Given the description of an element on the screen output the (x, y) to click on. 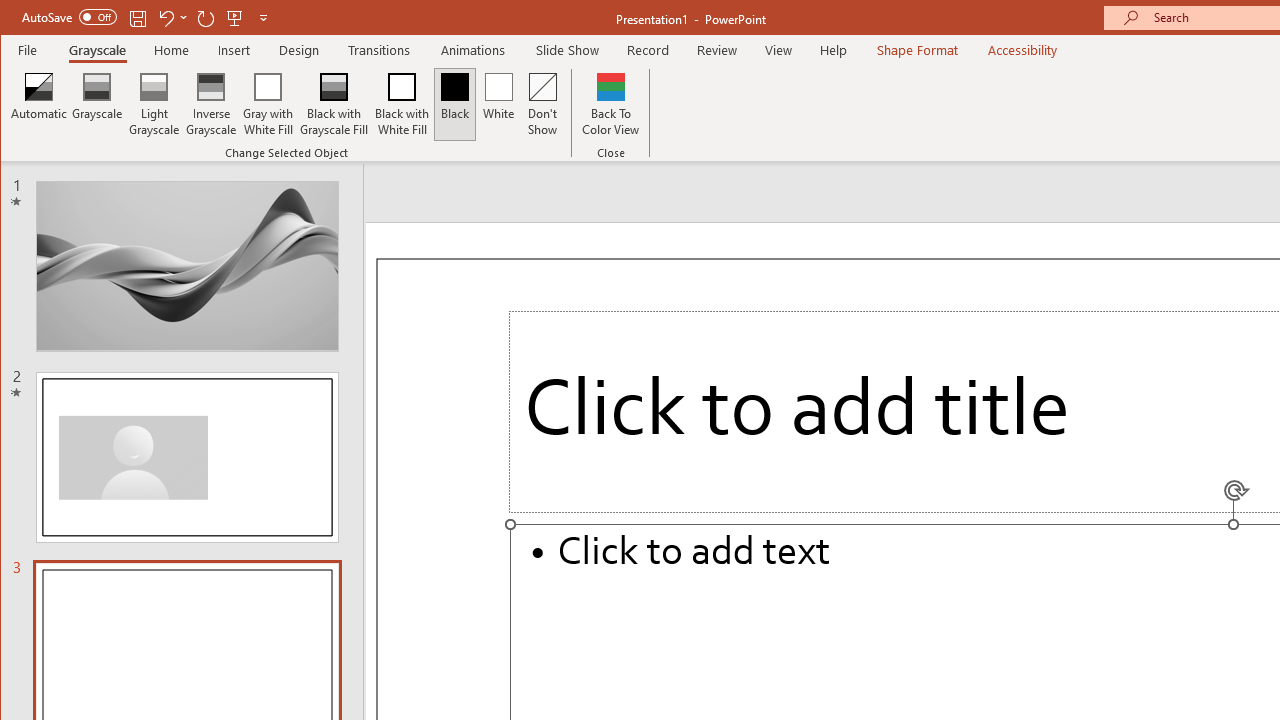
Inverse Grayscale (211, 104)
Design (299, 50)
Review (717, 50)
Light Grayscale (153, 104)
Save (138, 17)
Grayscale (97, 50)
Transitions (379, 50)
Black (454, 104)
Slide (187, 457)
Grayscale (97, 104)
Insert (233, 50)
Redo (206, 17)
Black with Grayscale Fill (334, 104)
Undo (165, 17)
